Given the description of an element on the screen output the (x, y) to click on. 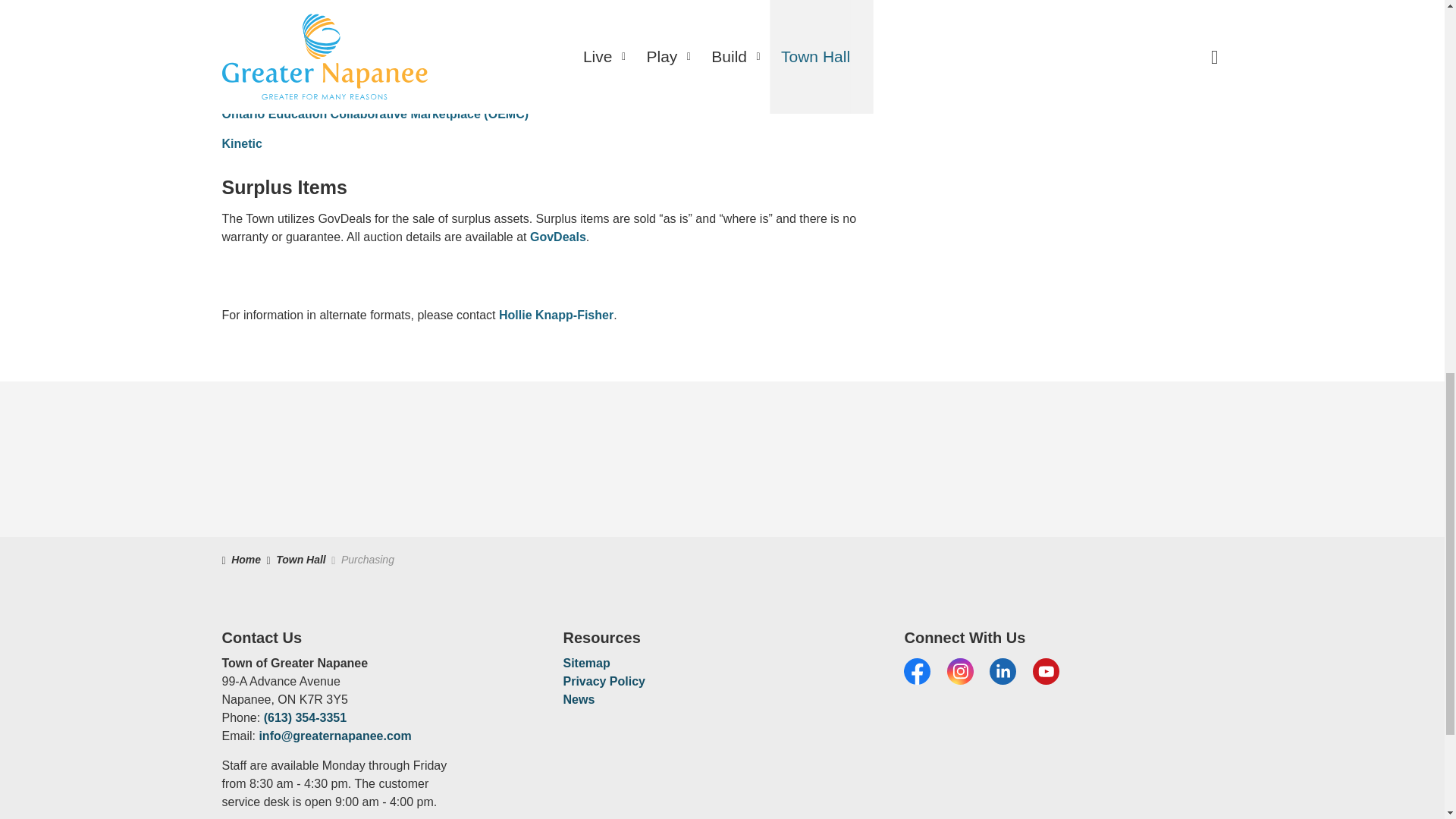
Sitemap (586, 662)
News (578, 698)
Privacy Policy (603, 680)
